Given the description of an element on the screen output the (x, y) to click on. 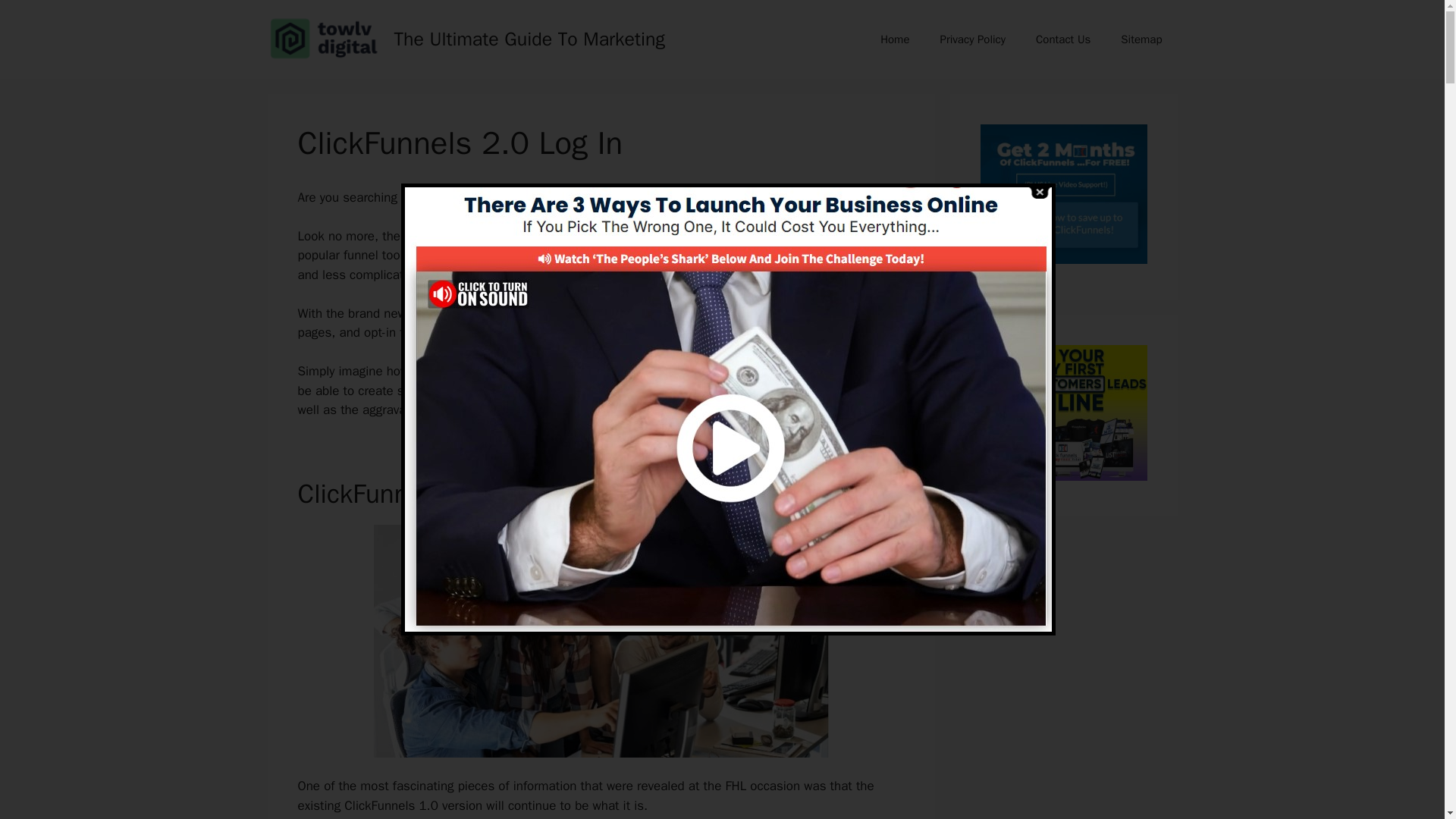
The Ultimate Guide To Marketing (529, 38)
Sitemap (1140, 39)
Contact Us (1062, 39)
Home (894, 39)
Privacy Policy (972, 39)
